Given the description of an element on the screen output the (x, y) to click on. 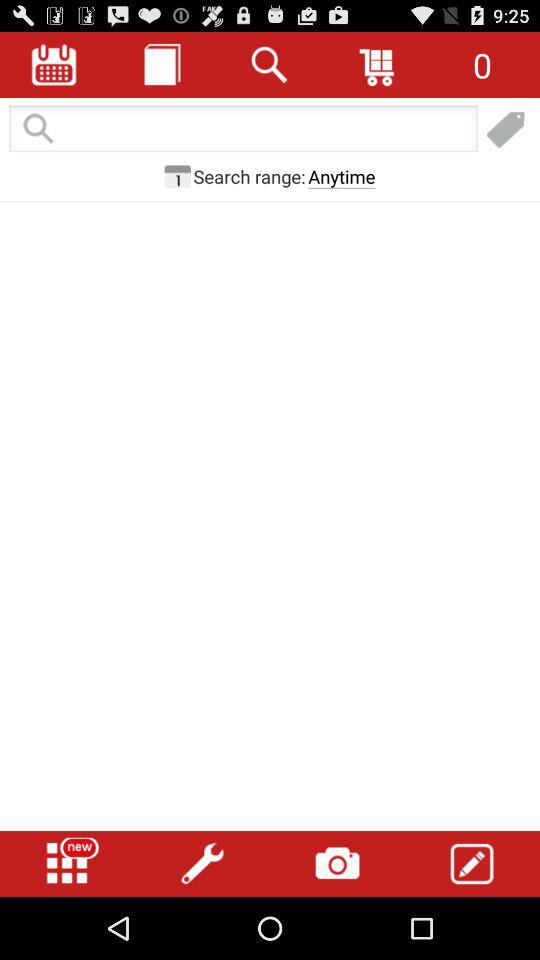
tap icon next to search range: icon (177, 175)
